Given the description of an element on the screen output the (x, y) to click on. 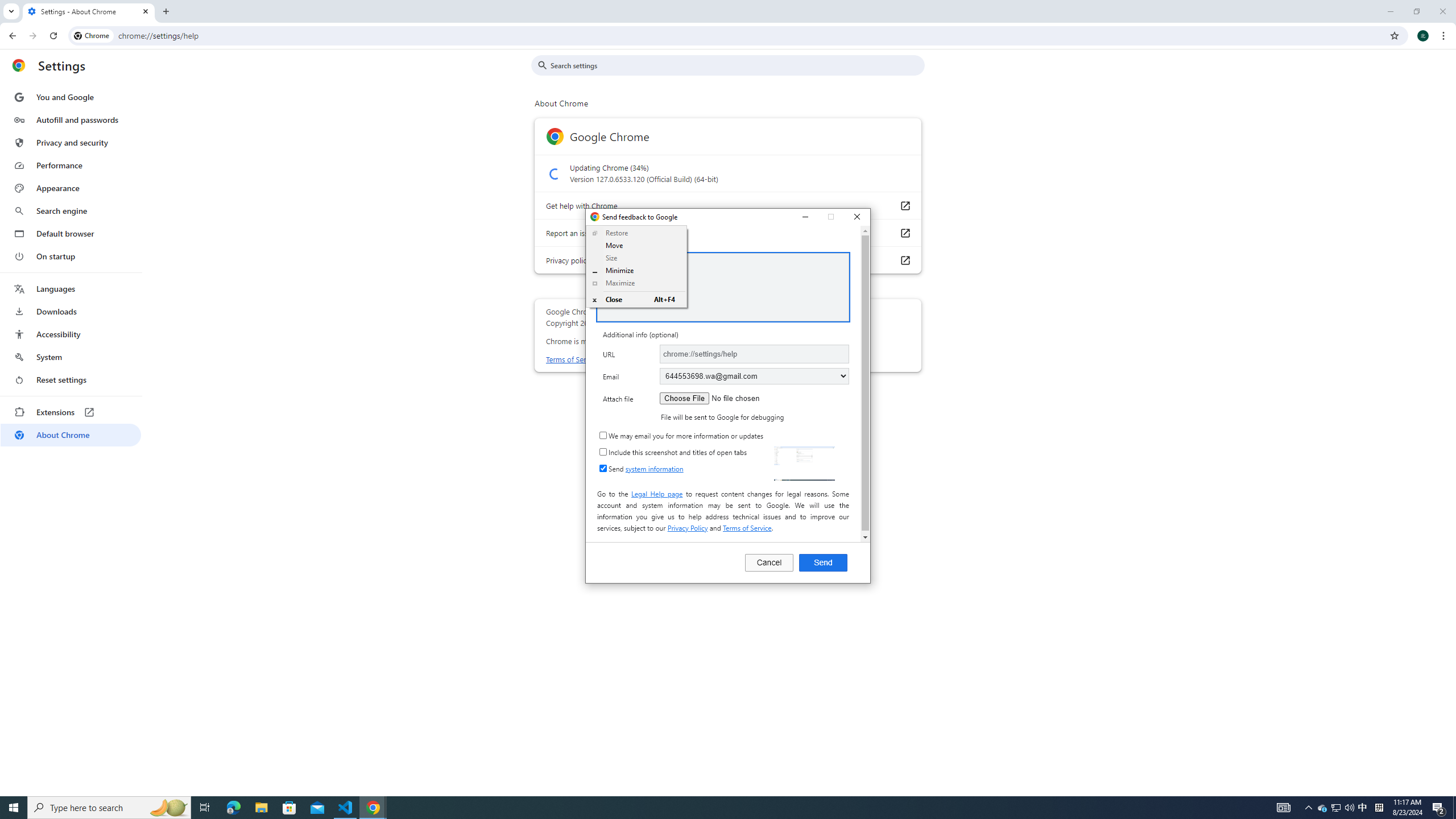
We may email you for more information or updates (603, 434)
Default browser (70, 233)
Search engine (70, 210)
Q2790: 100% (1349, 807)
